Given the description of an element on the screen output the (x, y) to click on. 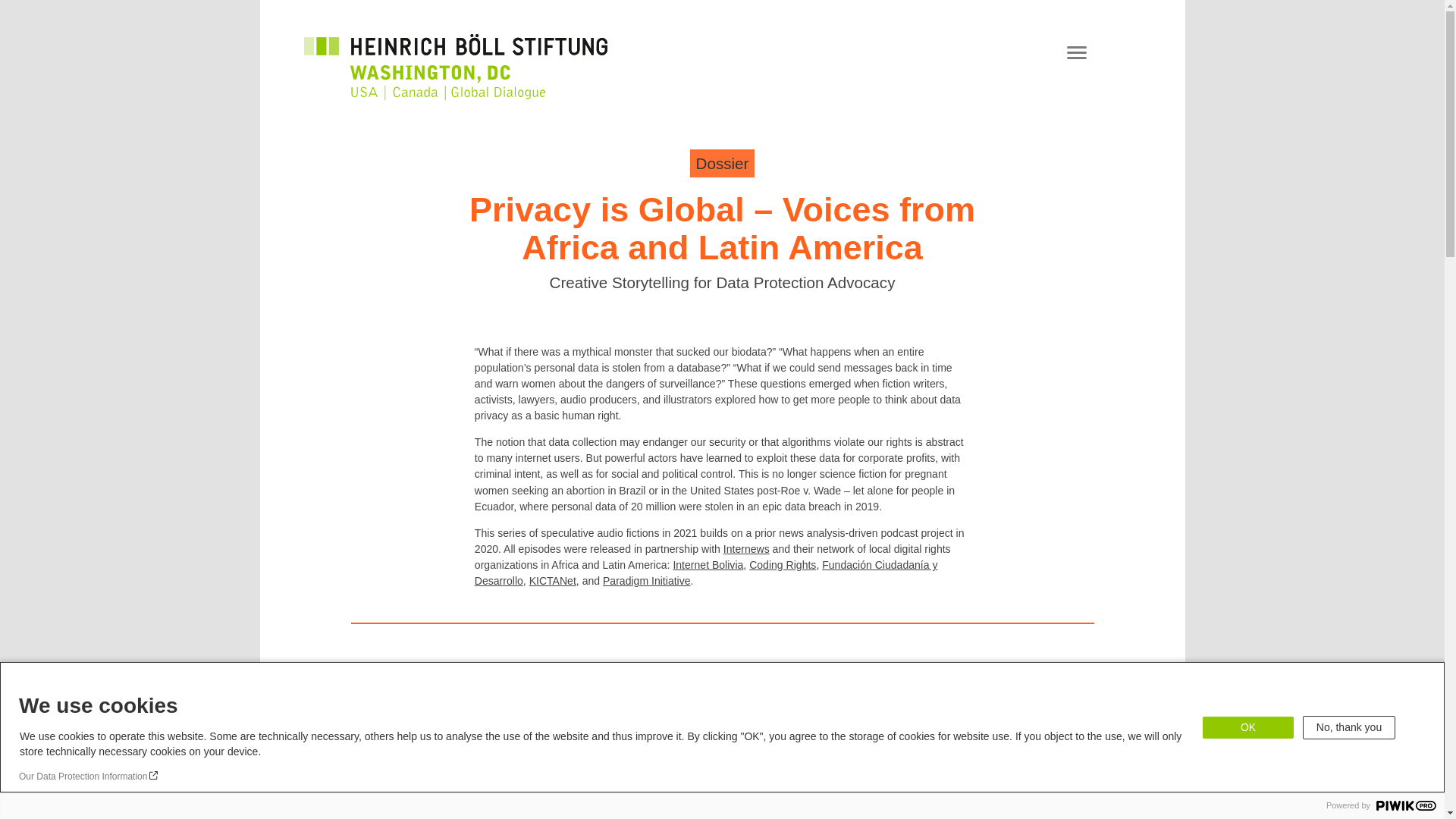
Internews (746, 548)
Internet Bolivia (707, 564)
KICTANet (552, 580)
Home (454, 57)
Coding Rights (782, 564)
Paradigm Initiative (646, 580)
Home (454, 91)
